Given the description of an element on the screen output the (x, y) to click on. 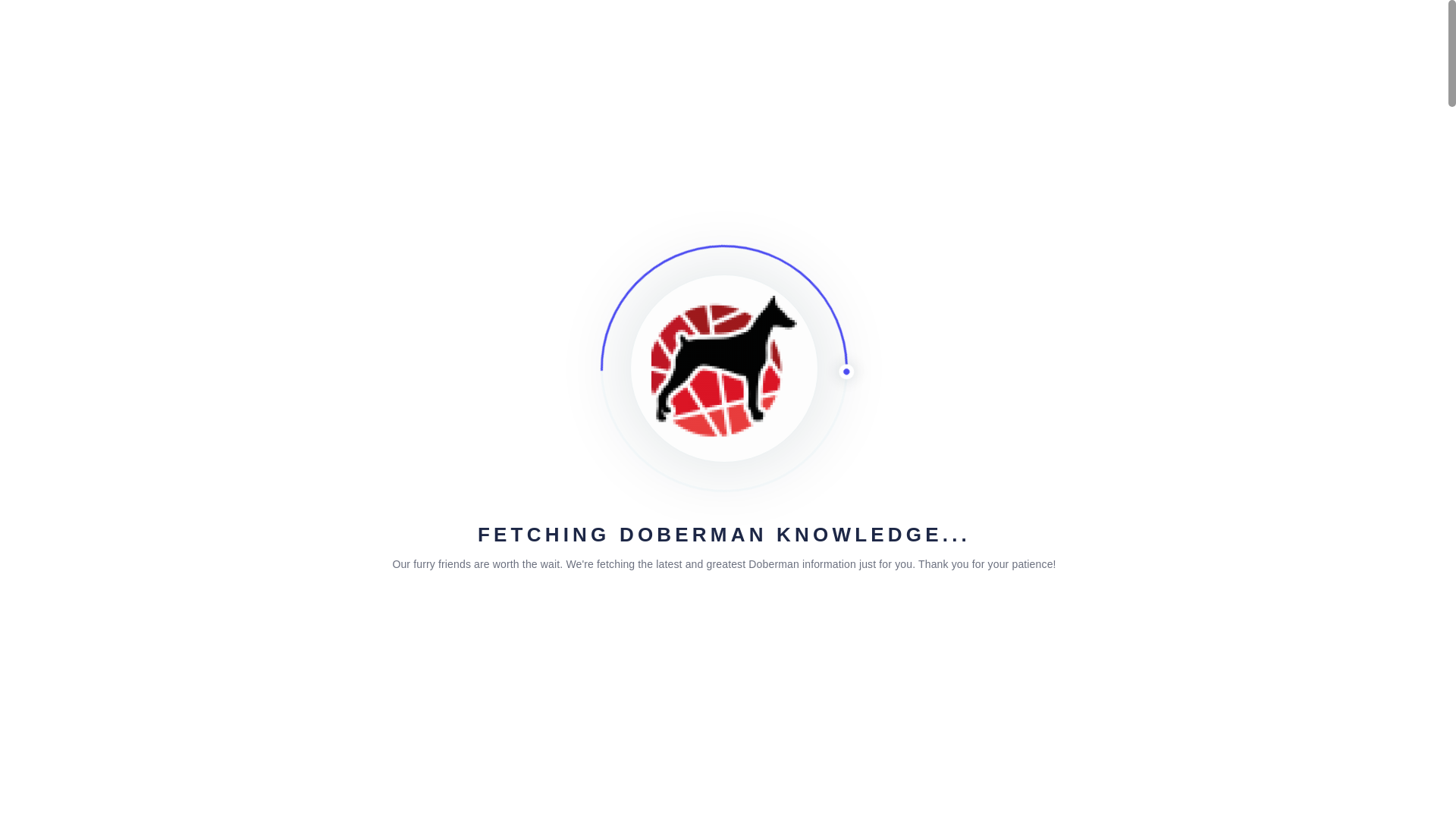
PRODUCTS (683, 38)
WEB STORIES (1203, 38)
Pet (845, 213)
General (418, 316)
BLOG (609, 38)
Breed (880, 213)
DOBERMAN COLORS (810, 38)
Doberman (671, 213)
Question (336, 501)
GUIDE (922, 38)
